Given the description of an element on the screen output the (x, y) to click on. 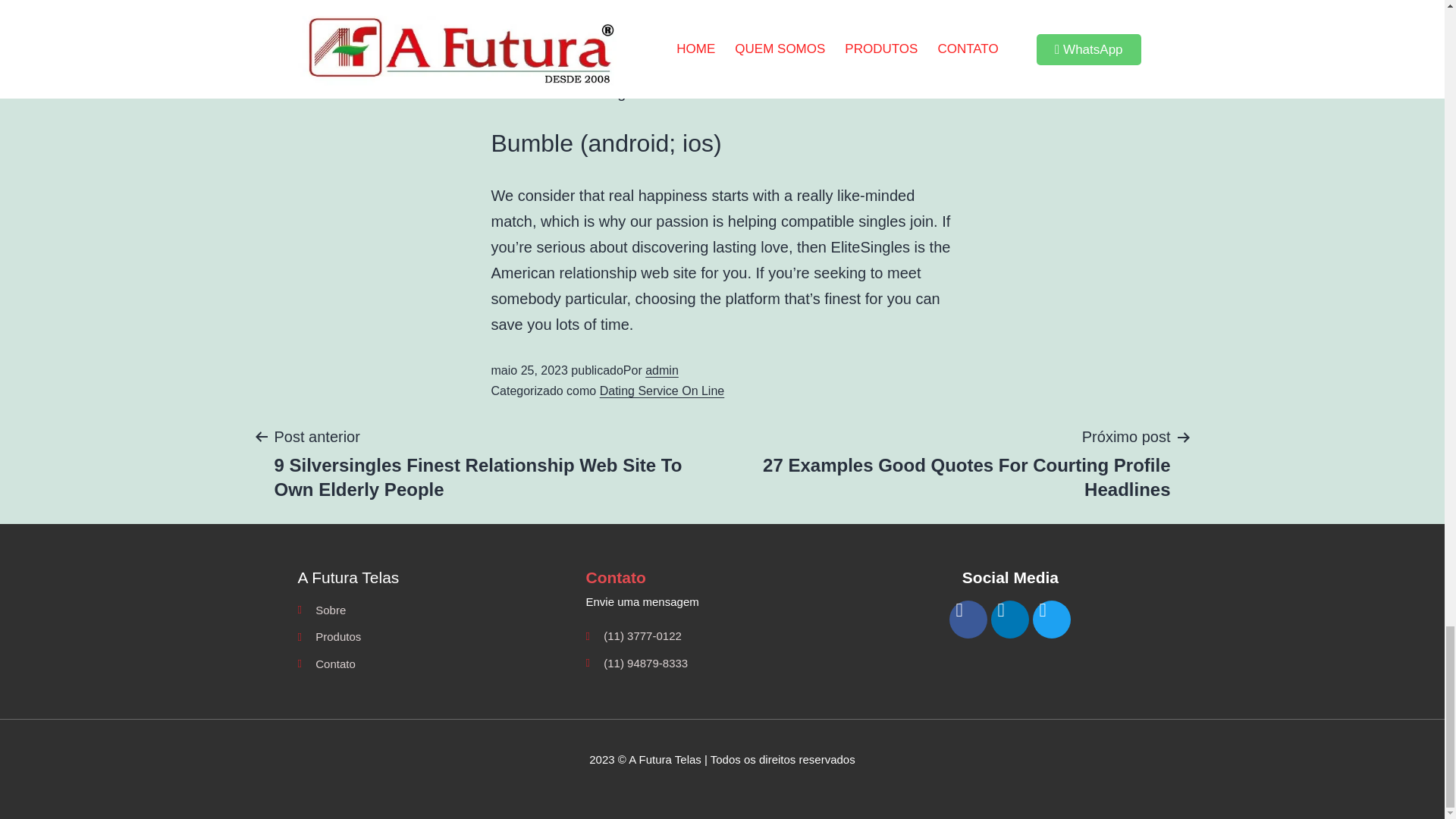
Envie uma mensagem (722, 601)
Dating Service On Line (662, 390)
Produtos (433, 637)
Contato (433, 664)
admin (661, 369)
Sobre (433, 609)
